Given the description of an element on the screen output the (x, y) to click on. 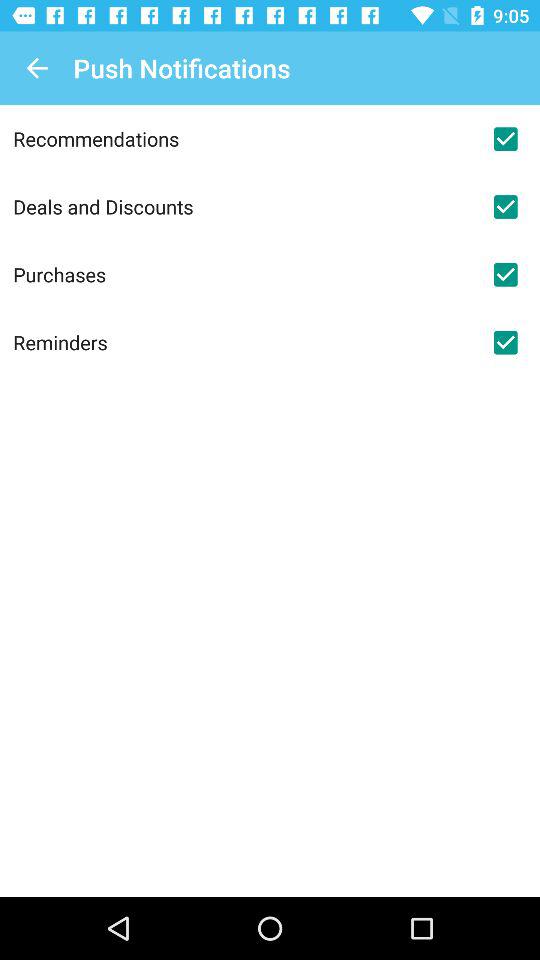
toggle push notifications for recommendations (505, 139)
